Given the description of an element on the screen output the (x, y) to click on. 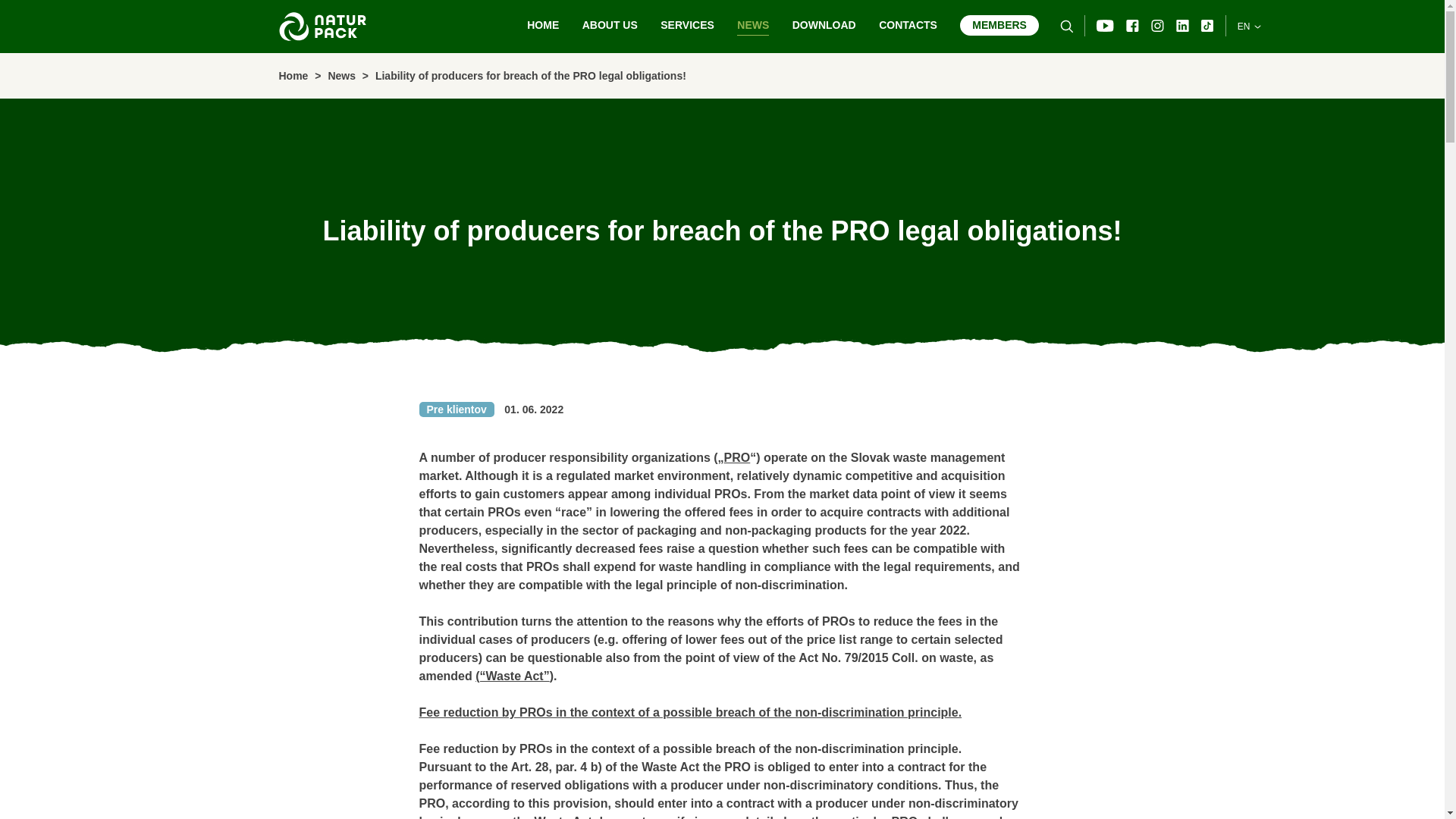
TikTok (1207, 25)
Home (293, 75)
HOME (543, 25)
Linkedin (1182, 25)
CONTACTS (908, 25)
SERVICES (687, 25)
Instagram (1157, 25)
NEWS (752, 25)
EN (1249, 23)
MEMBERS (999, 25)
